Given the description of an element on the screen output the (x, y) to click on. 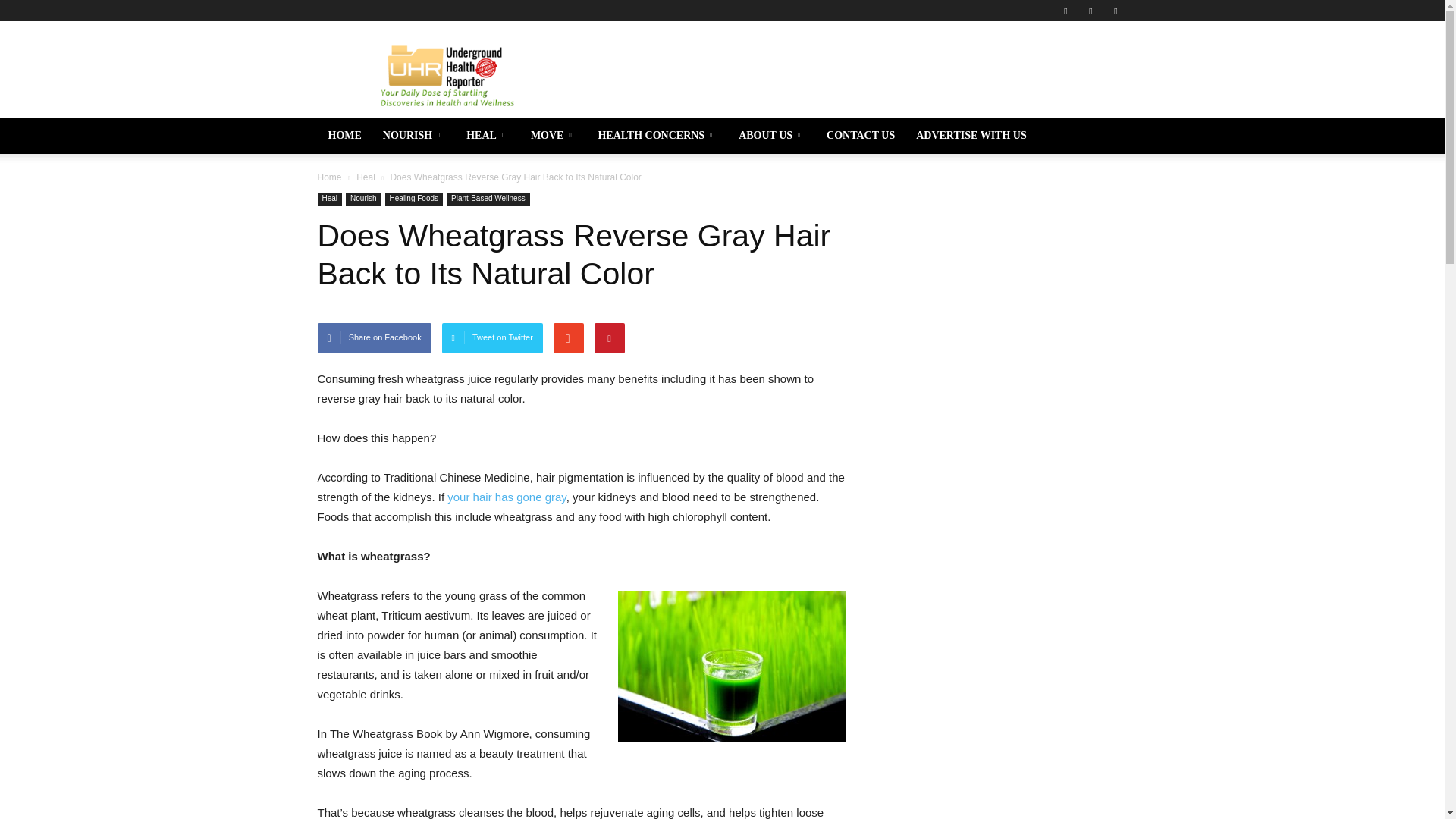
Instagram (1090, 10)
Facebook (1065, 10)
View all posts in Heal (365, 176)
Youtube (1114, 10)
Using Wheatgrass Health Benefits To Reverse Gray Hair (506, 496)
Advertisement (850, 76)
